Given the description of an element on the screen output the (x, y) to click on. 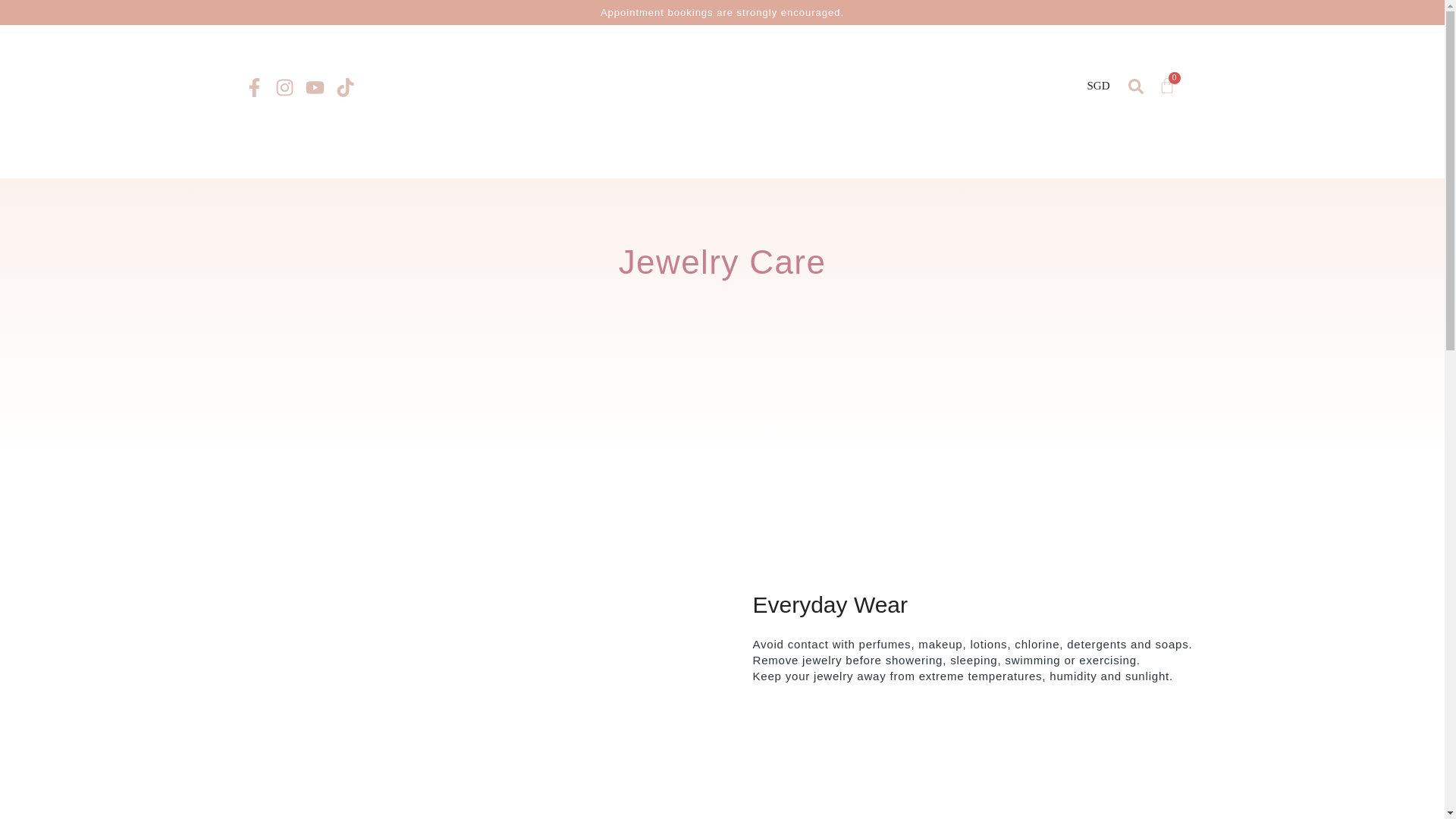
Appointment bookings are strongly encouraged. (721, 12)
